Given the description of an element on the screen output the (x, y) to click on. 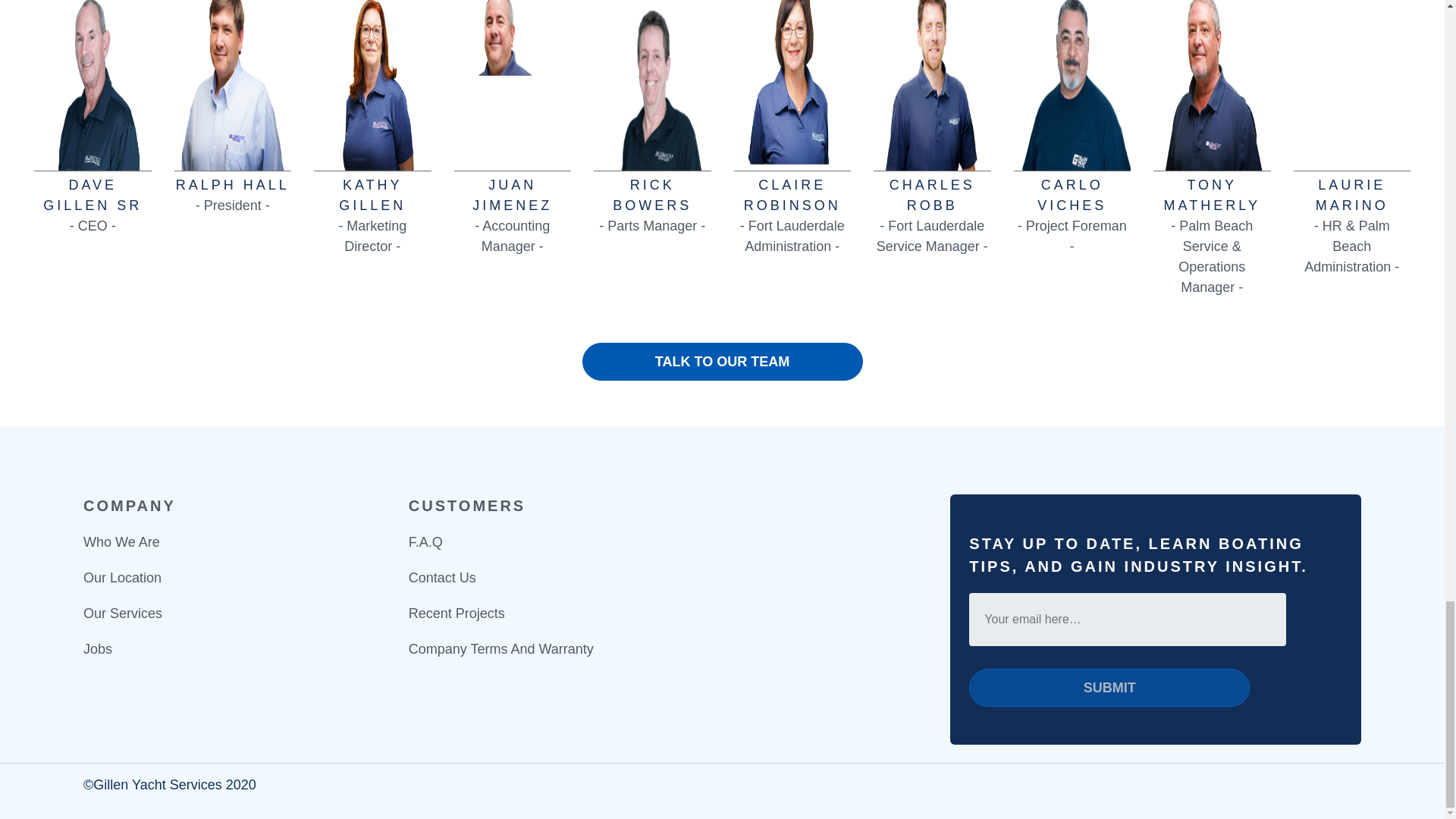
Contact Us (442, 577)
TALK TO OUR TEAM (722, 361)
Our Location (121, 577)
Jobs (97, 648)
Who We Are (121, 541)
Recent Projects (457, 613)
SUBMIT (1109, 687)
Our Services (121, 613)
Company Terms And Warranty (501, 648)
F.A.Q (425, 541)
